Given the description of an element on the screen output the (x, y) to click on. 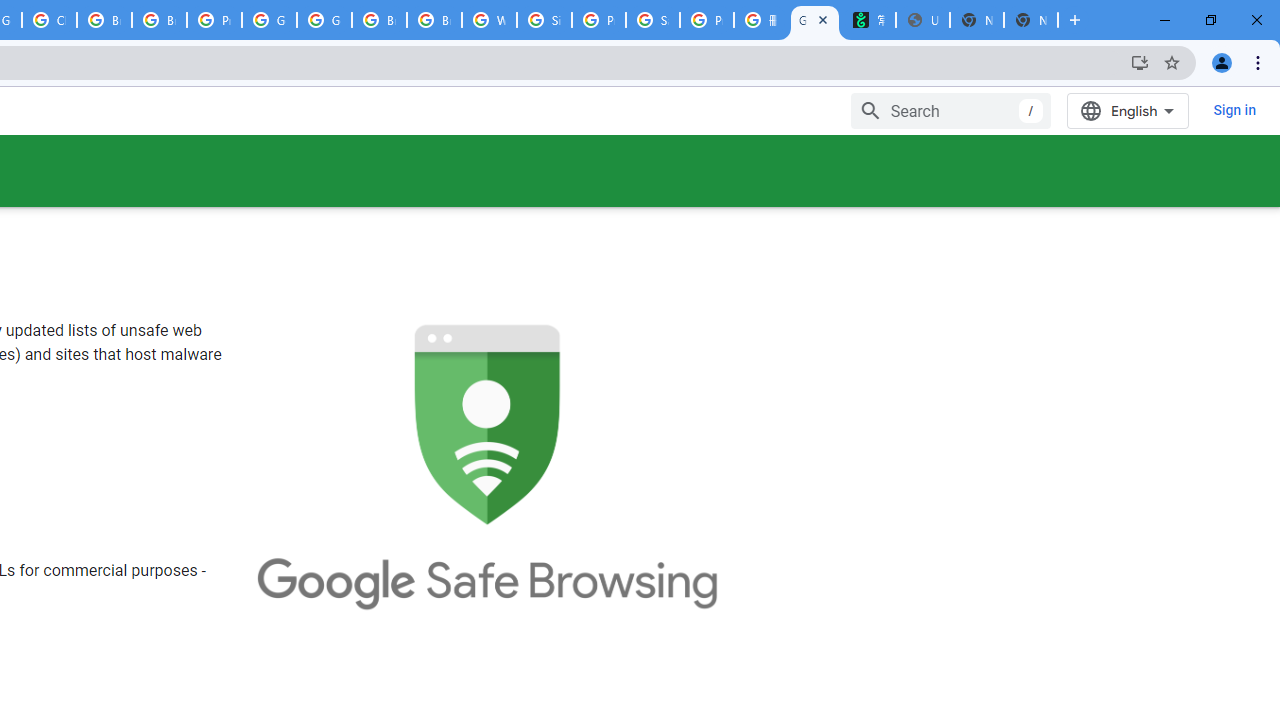
Browse Chrome as a guest - Computer - Google Chrome Help (103, 20)
Browse Chrome as a guest - Computer - Google Chrome Help (379, 20)
Sign in - Google Accounts (544, 20)
Untitled (922, 20)
Google Cloud Platform (324, 20)
Install Google Developers (1139, 62)
